Given the description of an element on the screen output the (x, y) to click on. 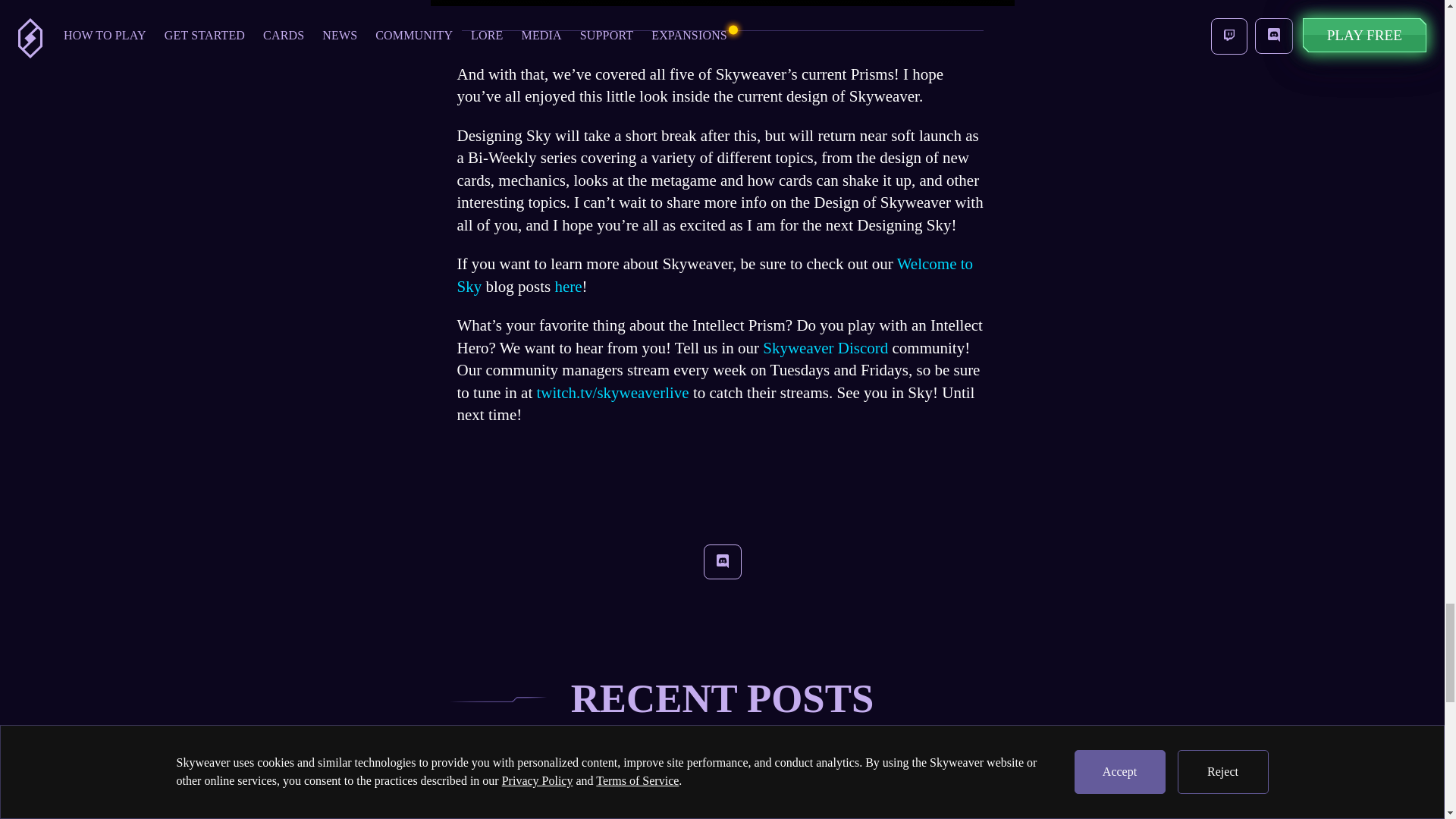
Skyweaver Discord (825, 348)
here (565, 286)
Welcome to Sky (714, 274)
